Given the description of an element on the screen output the (x, y) to click on. 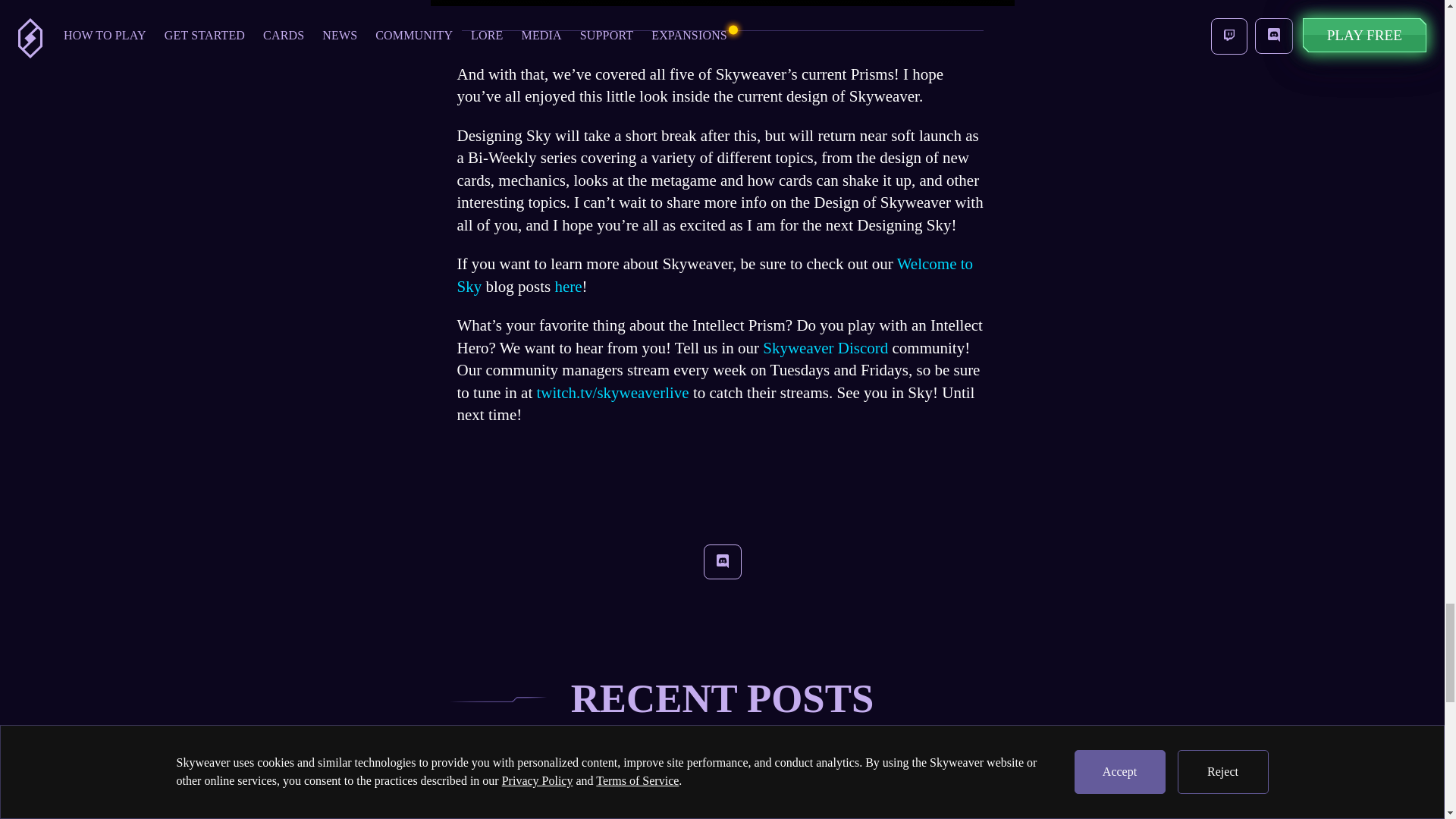
Skyweaver Discord (825, 348)
here (565, 286)
Welcome to Sky (714, 274)
